Given the description of an element on the screen output the (x, y) to click on. 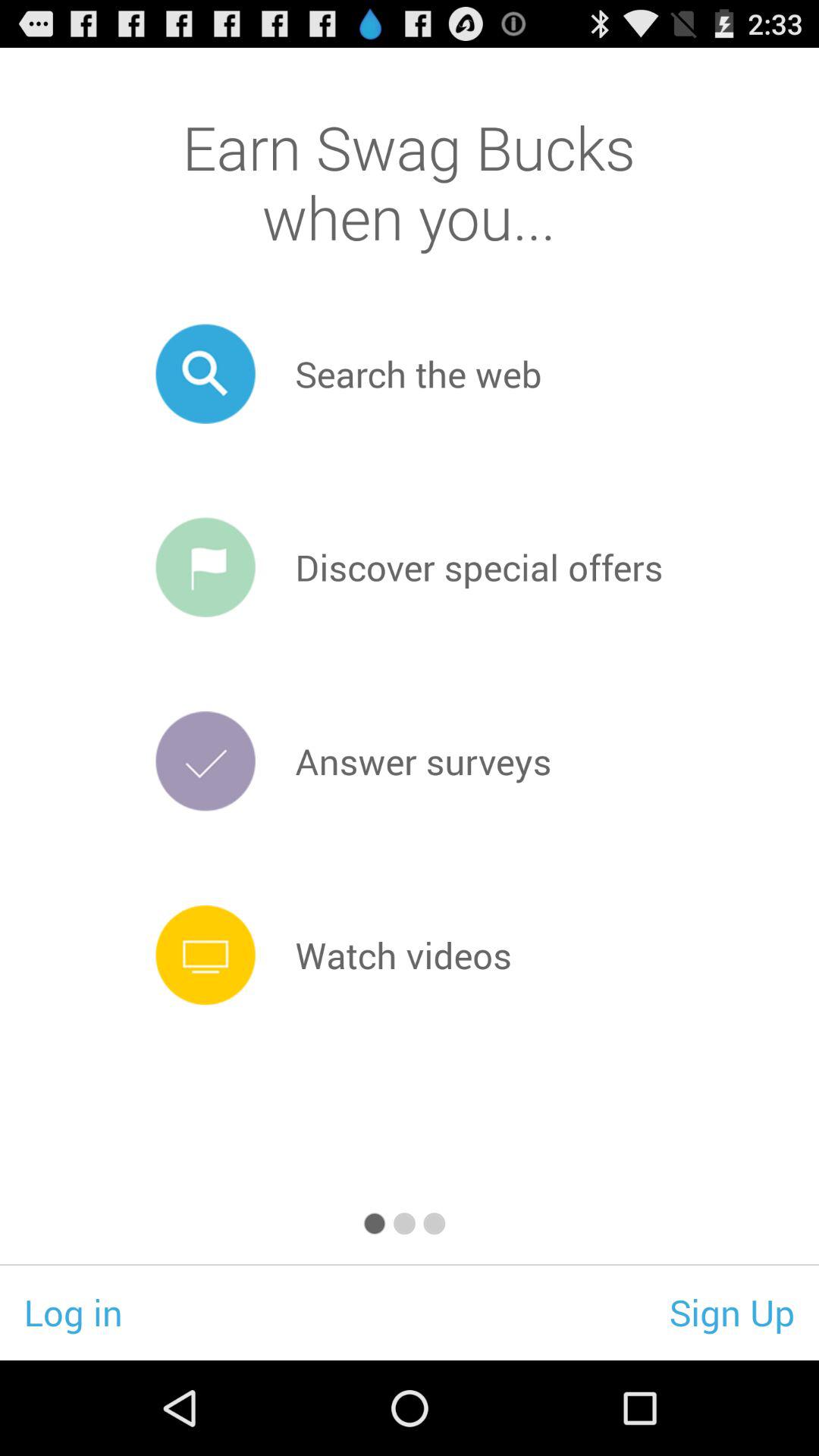
swipe until the log in (73, 1312)
